Given the description of an element on the screen output the (x, y) to click on. 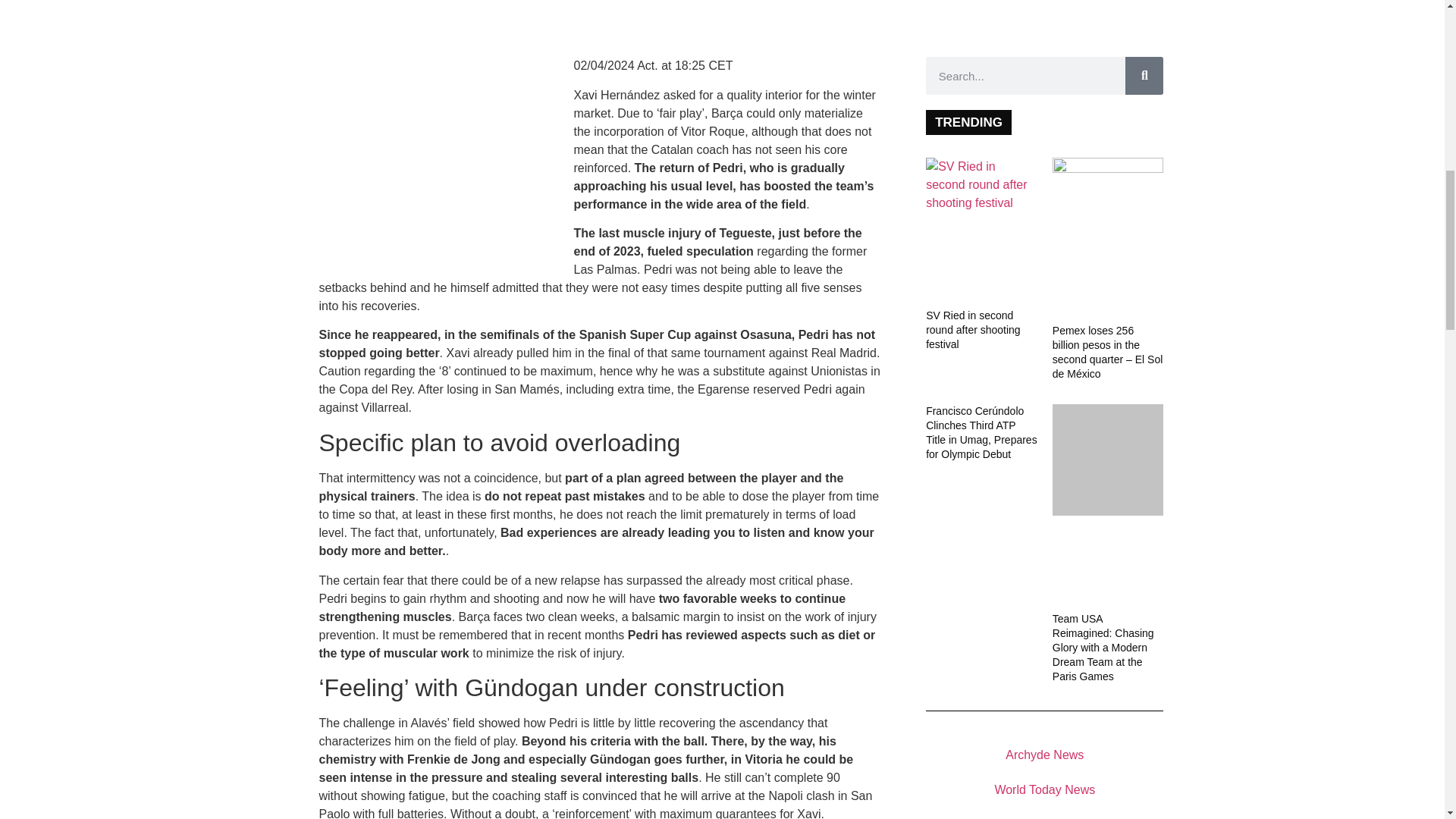
SV Ried in second round after shooting festival (981, 185)
